Given the description of an element on the screen output the (x, y) to click on. 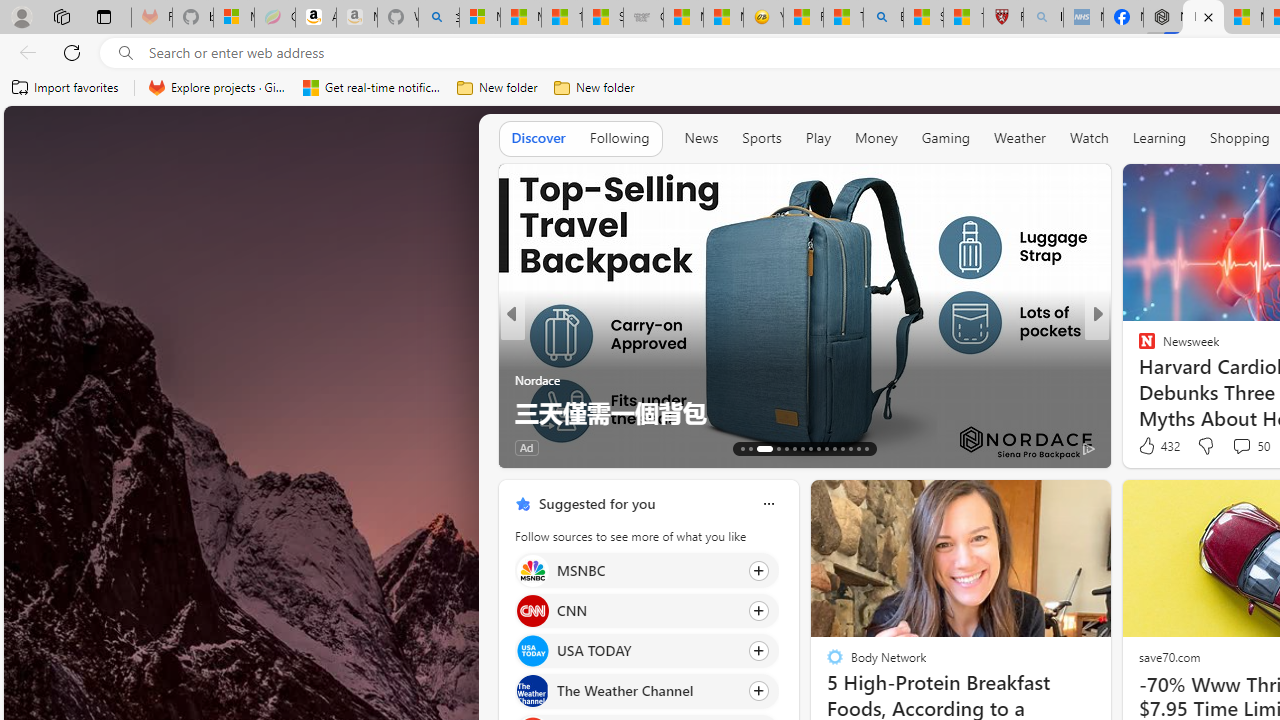
225 Like (535, 447)
Peachy Fours (1138, 380)
432 Like (1157, 446)
AutomationID: tab-74 (818, 448)
USA TODAY (532, 651)
26 Like (1149, 447)
Recipes - MSN (803, 17)
